Given the description of an element on the screen output the (x, y) to click on. 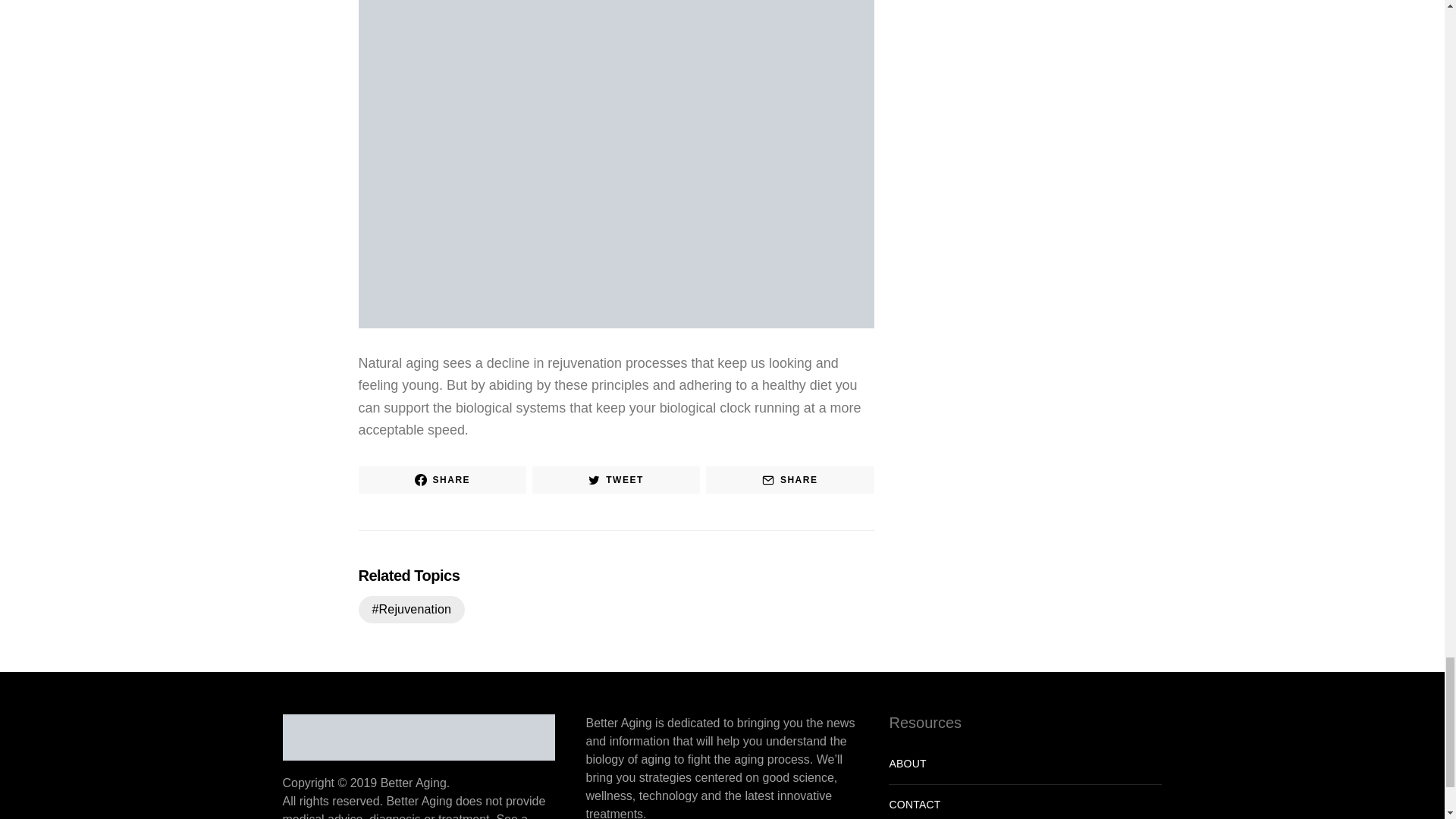
SHARE (441, 479)
SHARE (790, 479)
Rejuvenation (411, 609)
TWEET (616, 479)
